Given the description of an element on the screen output the (x, y) to click on. 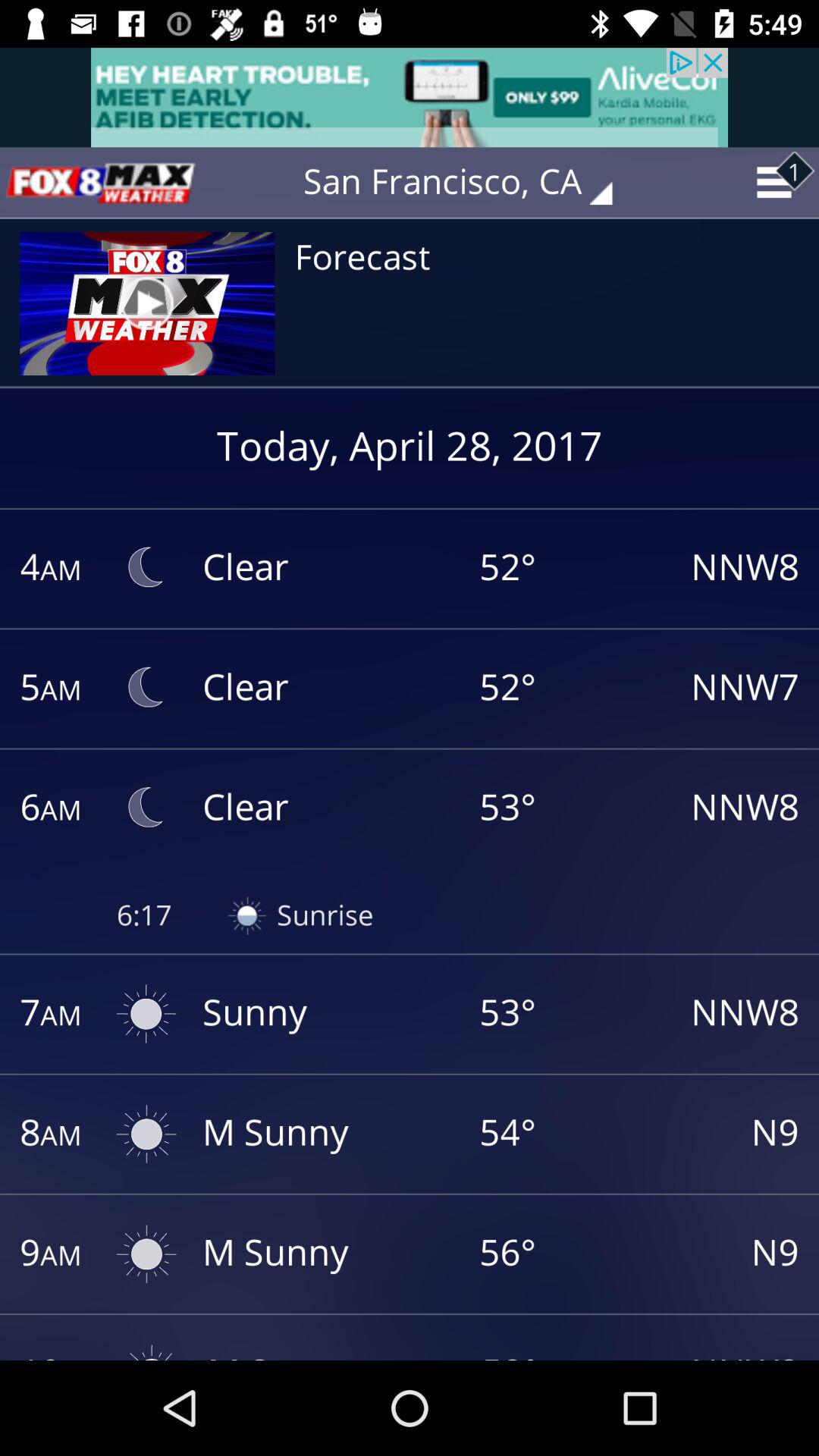
add banner (409, 97)
